Given the description of an element on the screen output the (x, y) to click on. 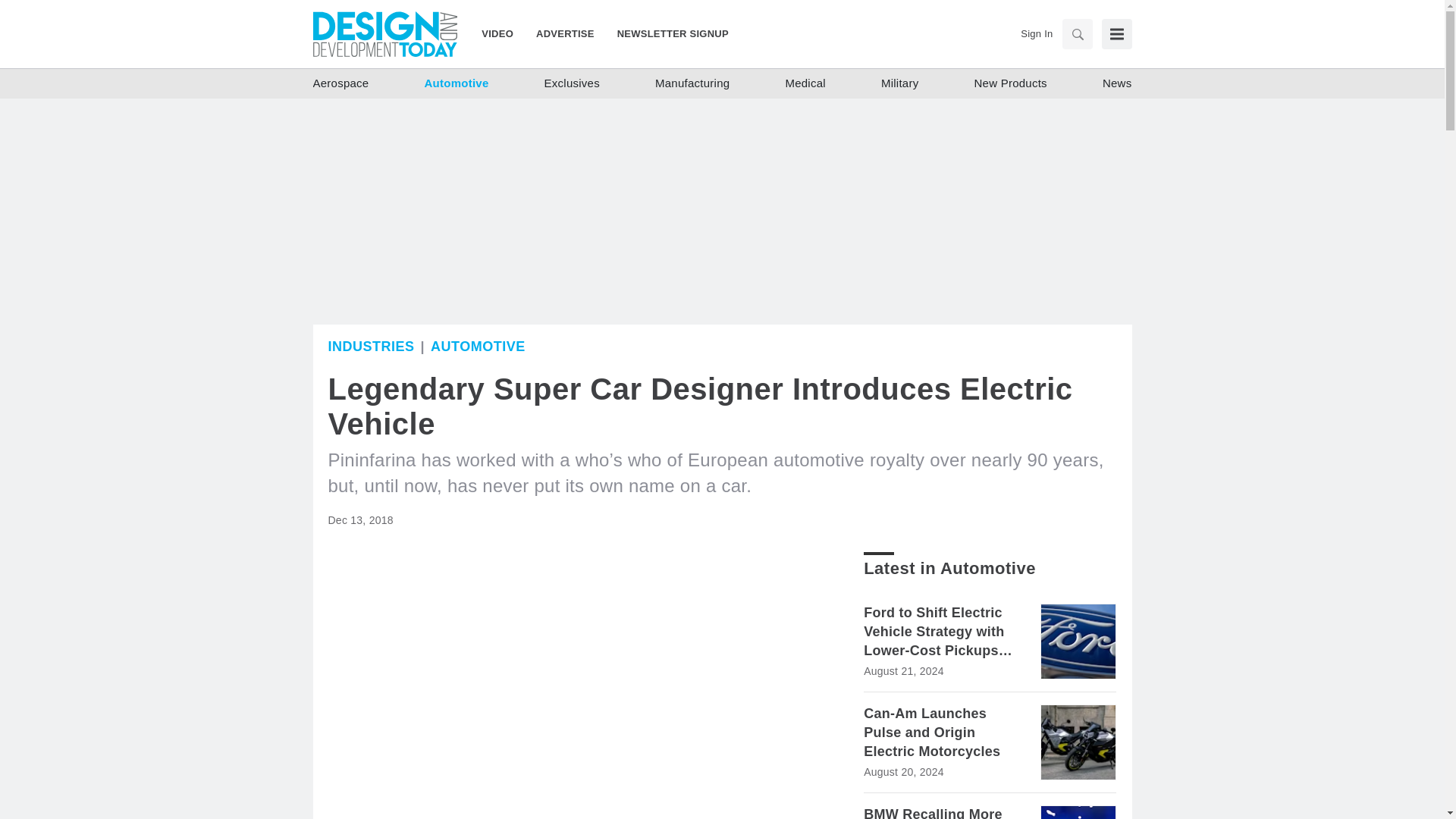
ADVERTISE (564, 33)
Sign In (1036, 33)
NEWSLETTER SIGNUP (667, 33)
News (1117, 83)
Military (899, 83)
Industries (370, 346)
Medical (804, 83)
VIDEO (502, 33)
Aerospace (340, 83)
New Products (1010, 83)
